Given the description of an element on the screen output the (x, y) to click on. 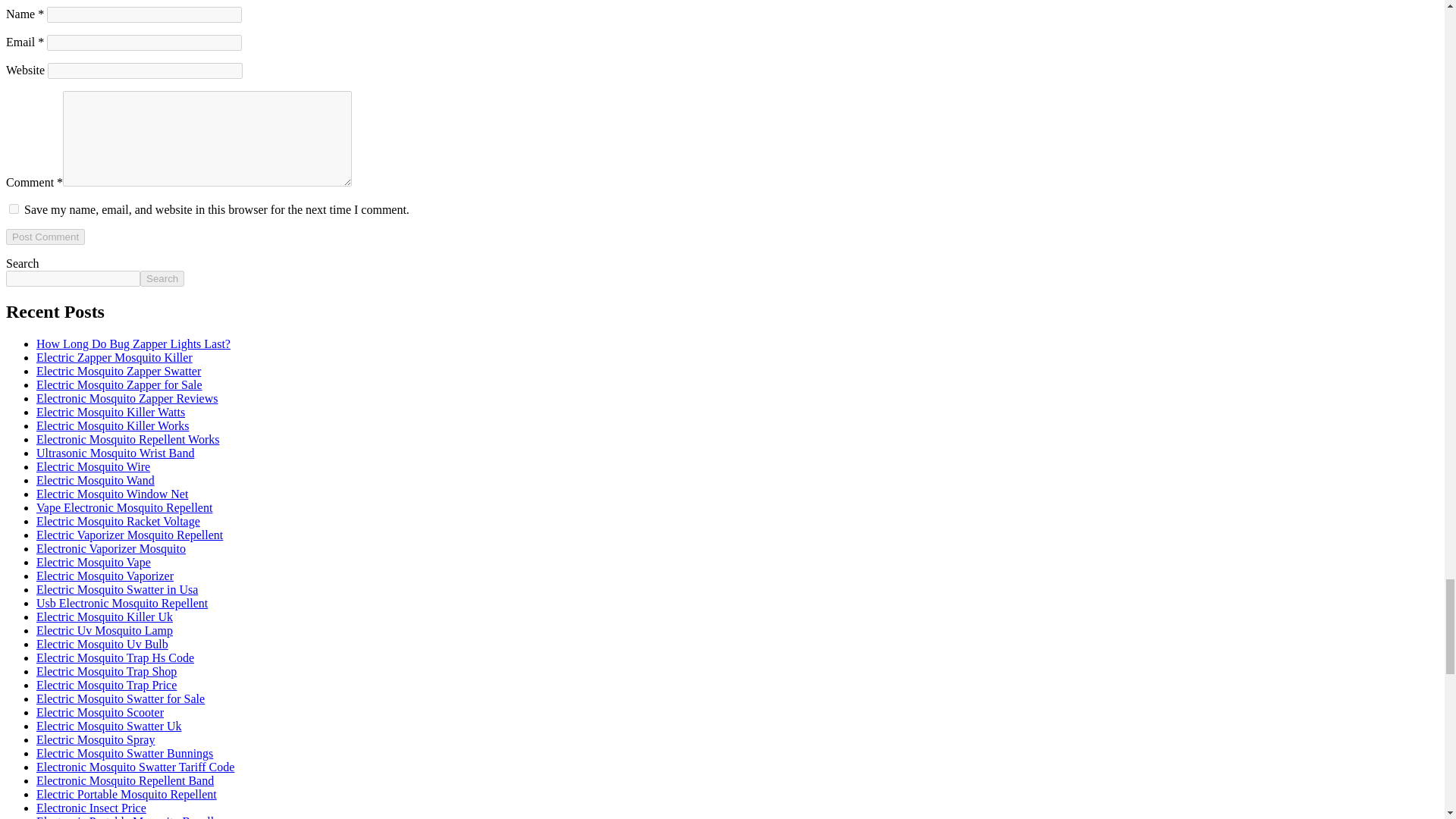
Post Comment (44, 236)
yes (13, 208)
